Given the description of an element on the screen output the (x, y) to click on. 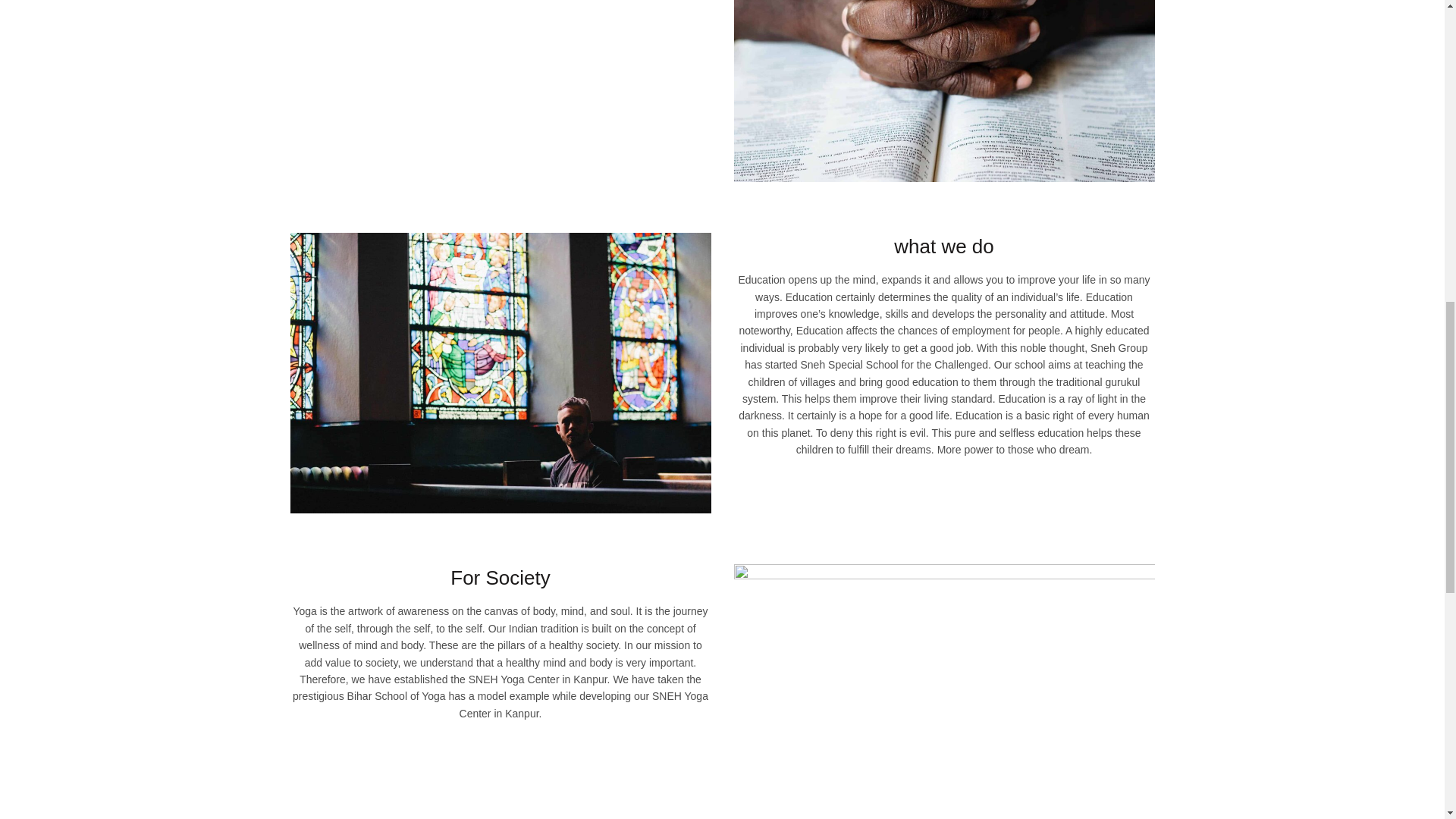
karl-fredrickson-27504-unsplash (499, 372)
people-exercising-inside-brown-painted-room-892677 (943, 691)
rawpixel-769319-unsplash (943, 90)
